Given the description of an element on the screen output the (x, y) to click on. 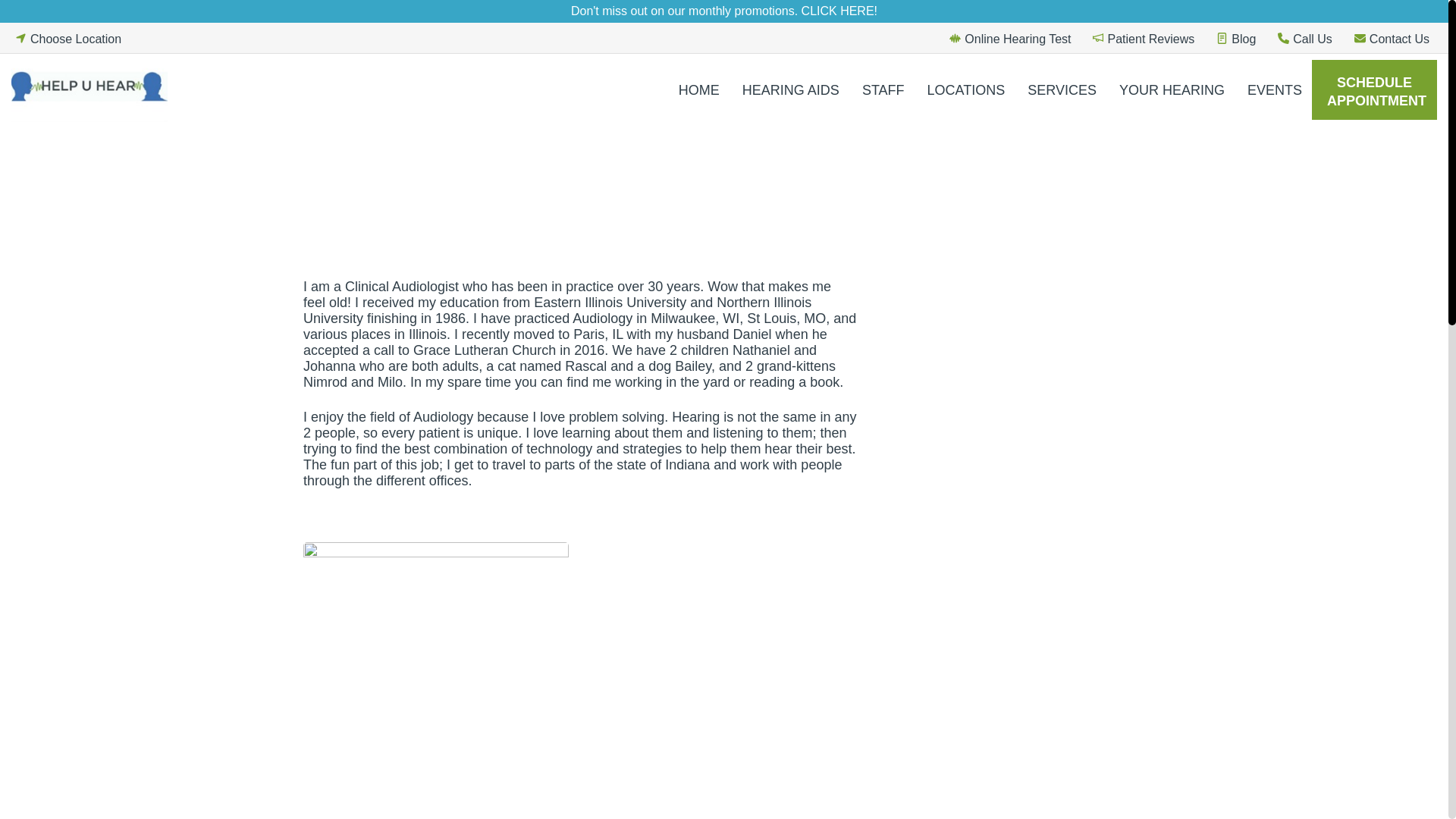
Don't miss out on our monthly promotions. CLICK HERE! (724, 11)
Blog (1233, 37)
Online Hearing Test (1007, 37)
Choose a Location (65, 37)
EVENTS (1274, 90)
SCHEDULE APPOINTMENT (1374, 89)
Help U Hear (92, 90)
Choose Location (65, 37)
STAFF (882, 90)
Contact Us (1390, 37)
